Given the description of an element on the screen output the (x, y) to click on. 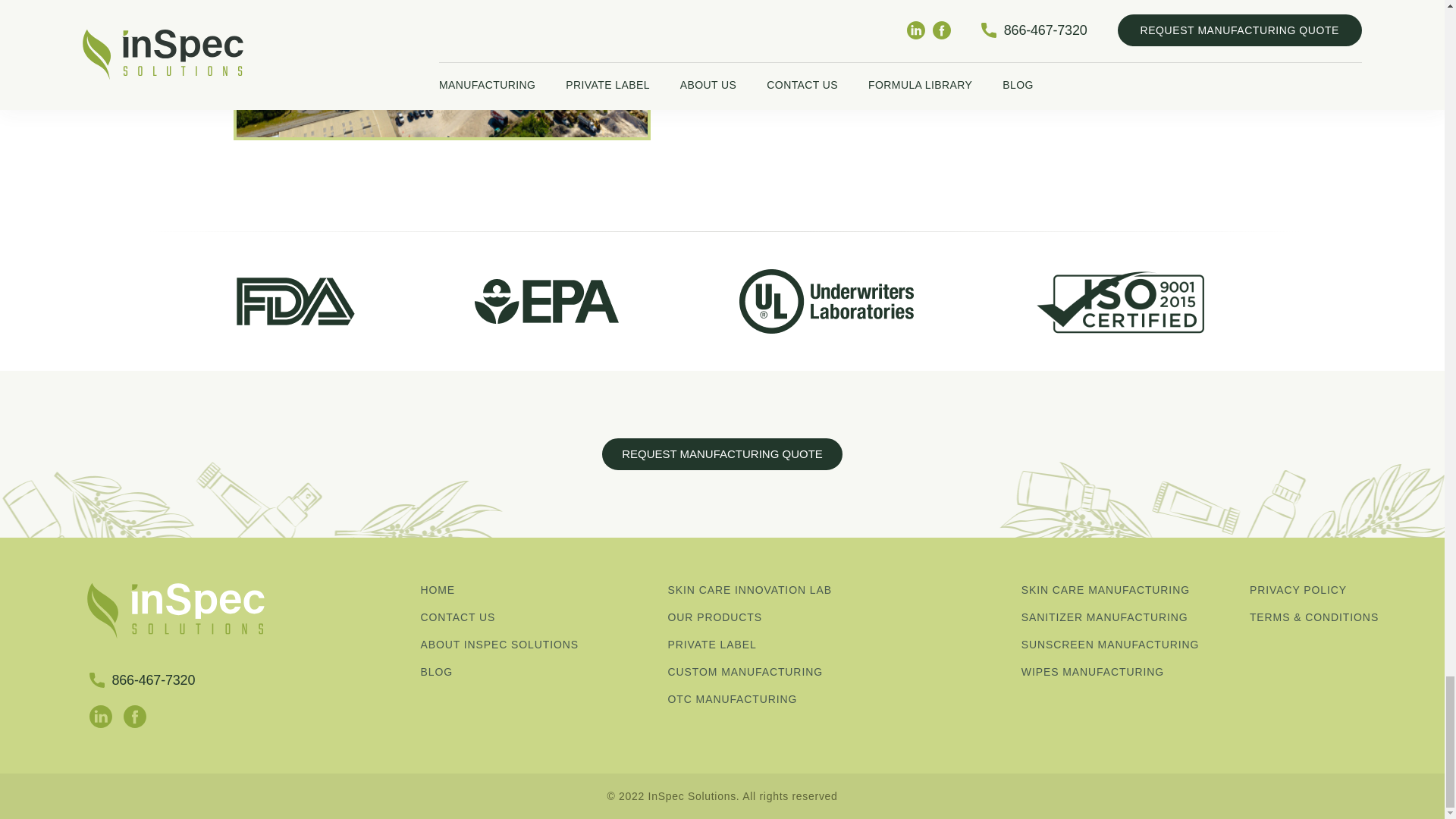
WIPES MANUFACTURING (1130, 672)
OUR PRODUCTS (776, 617)
CUSTOM MANUFACTURING (776, 672)
CONTACT US (528, 617)
BLOG (528, 672)
866-467-7320 (141, 679)
SKIN CARE INNOVATION LAB (776, 590)
REQUEST MANUFACTURING QUOTE (722, 454)
SUNSCREEN MANUFACTURING (1130, 644)
SANITIZER MANUFACTURING (1130, 617)
PRIVATE LABEL (776, 644)
SKIN CARE MANUFACTURING (1130, 590)
OTC MANUFACTURING (776, 699)
HOME (528, 590)
ABOUT INSPEC SOLUTIONS (528, 644)
